Given the description of an element on the screen output the (x, y) to click on. 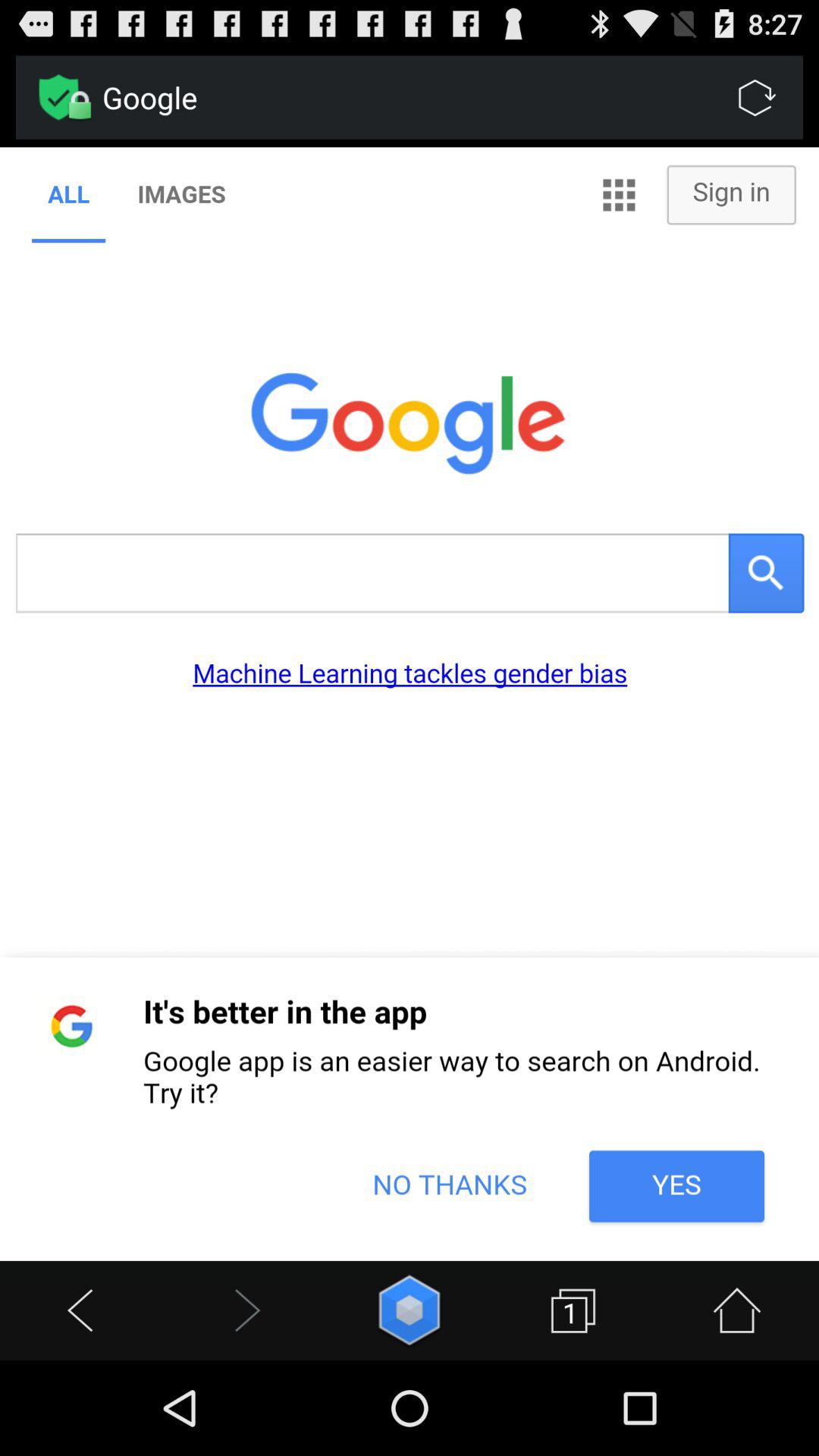
google page (409, 703)
